Given the description of an element on the screen output the (x, y) to click on. 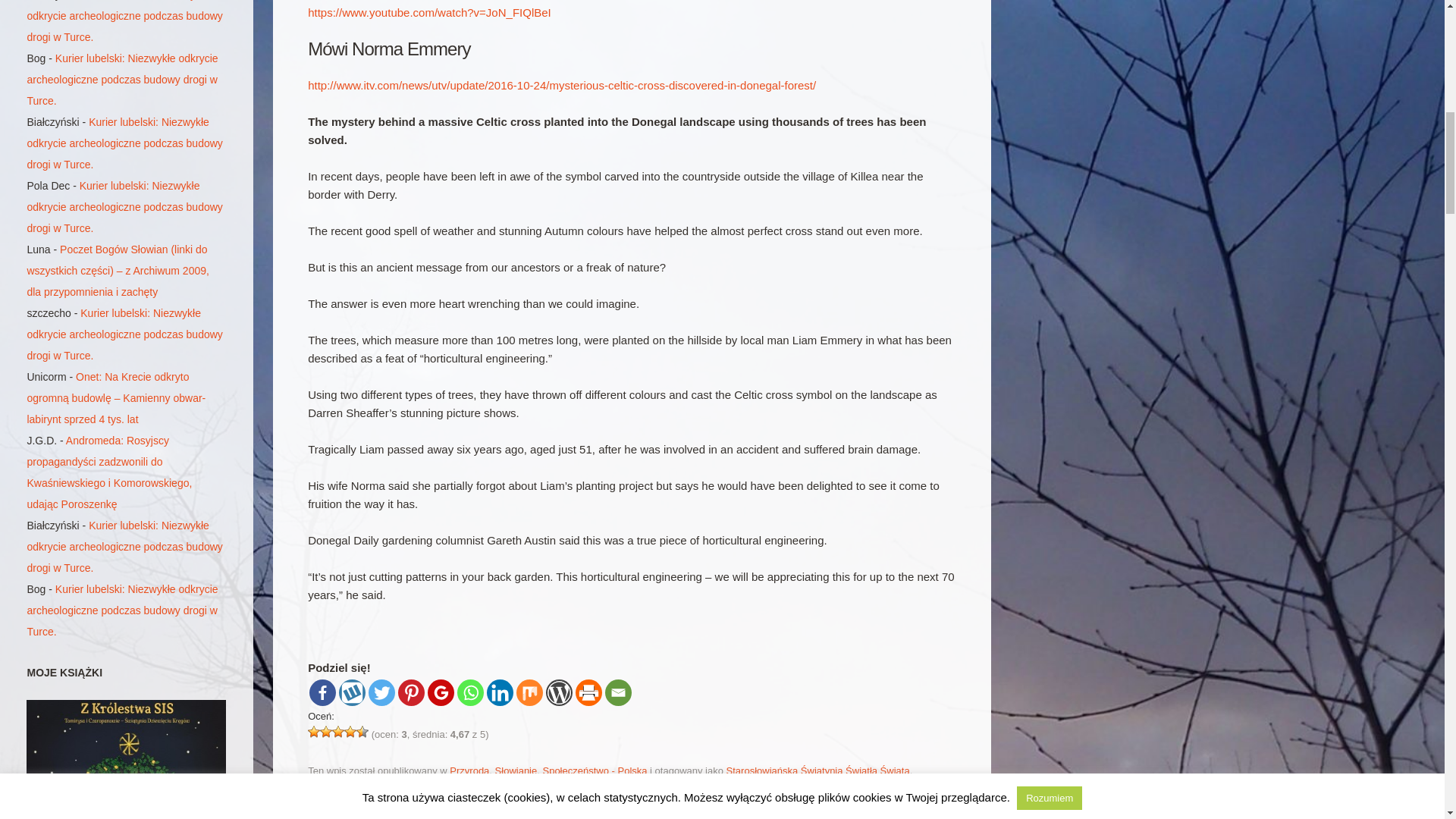
Email (618, 692)
Przyroda (469, 770)
Mix (529, 692)
Linkedin (499, 692)
Whatsapp (470, 692)
Pinterest (411, 692)
Wykop (352, 692)
Google Bookmarks (441, 692)
Wiara Przyrody (400, 788)
Facebook (322, 692)
Print (588, 692)
Twitter (381, 692)
WordPress (559, 692)
